Given the description of an element on the screen output the (x, y) to click on. 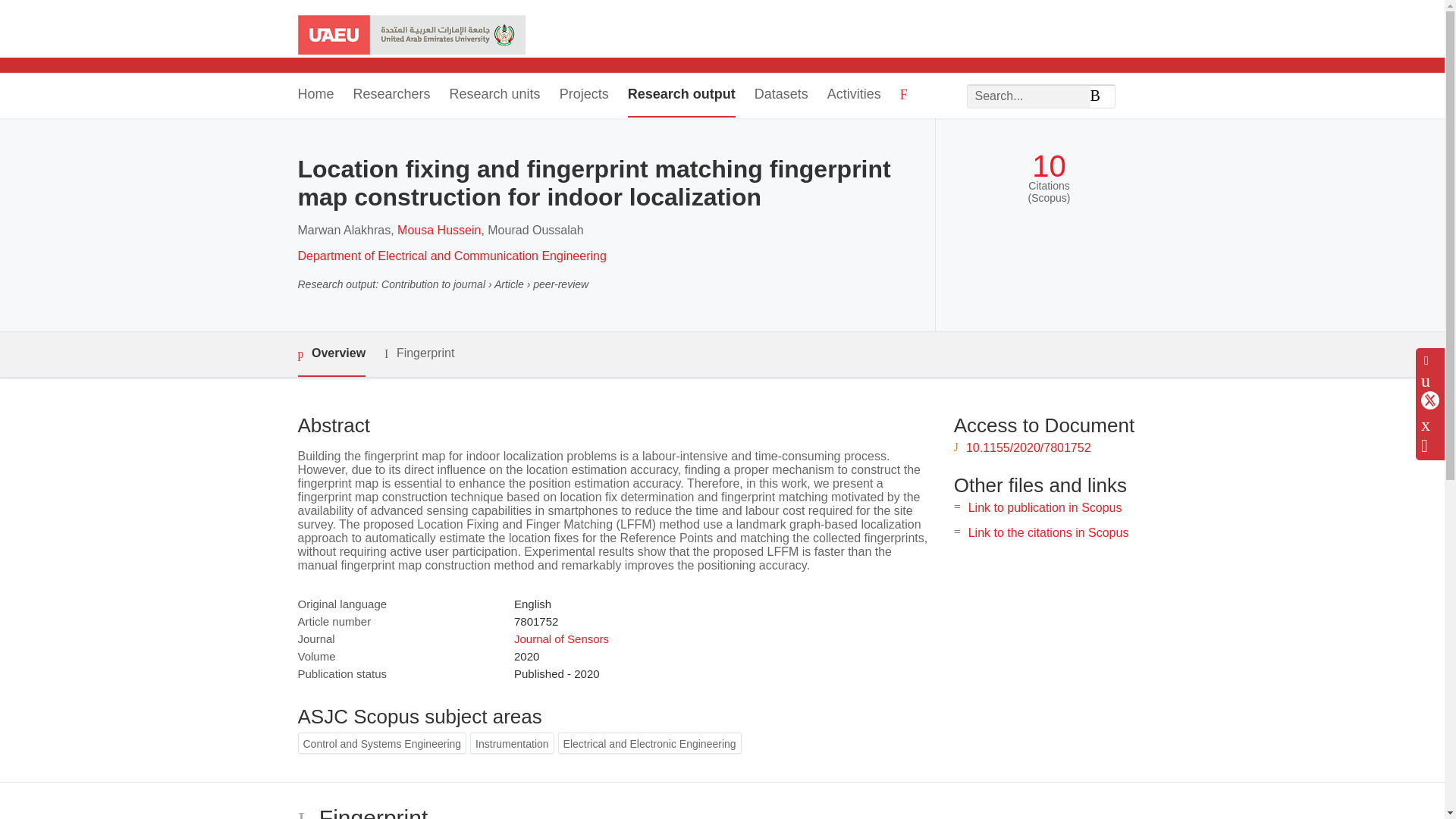
Datasets (781, 94)
Researchers (391, 94)
Mousa Hussein (438, 229)
Fingerprint (419, 353)
Projects (583, 94)
Department of Electrical and Communication Engineering (451, 255)
Activities (853, 94)
Link to the citations in Scopus (1048, 532)
Research output (681, 94)
